Given the description of an element on the screen output the (x, y) to click on. 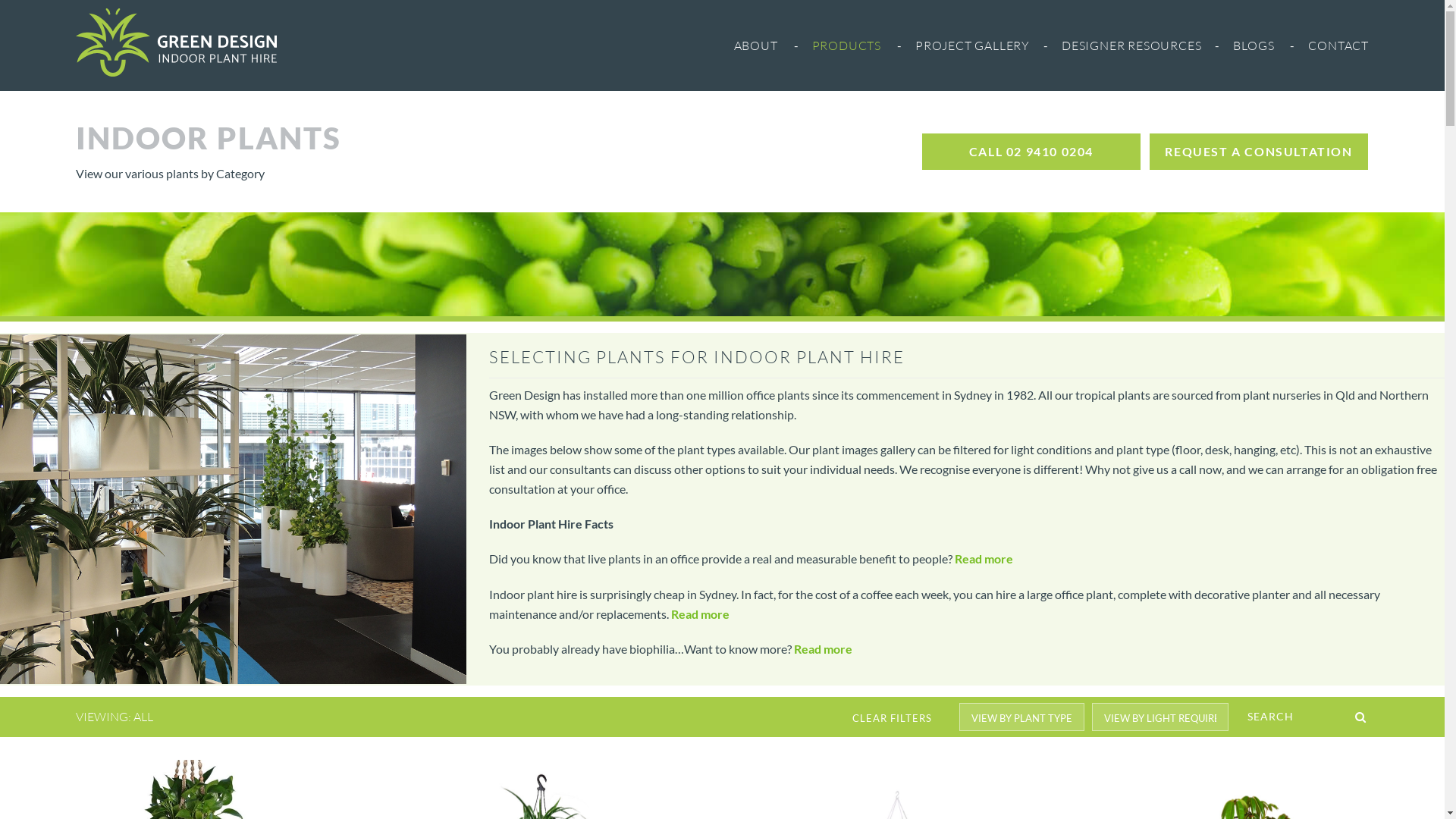
DESIGNER RESOURCES Element type: text (1131, 44)
Search Element type: text (25, 10)
Green Design Element type: hover (175, 42)
PROJECT GALLERY Element type: text (972, 44)
CONTACT Element type: text (1338, 44)
BLOGS Element type: text (1253, 44)
CALL
02 9410 0204 Element type: text (1031, 151)
Read more Element type: text (983, 558)
ABOUT Element type: text (756, 44)
Read more Element type: text (822, 648)
CLEAR FILTERS Element type: text (891, 716)
REQUEST A CONSULTATION Element type: text (1258, 151)
Wire-wall-at-KPMG Element type: hover (233, 509)
Read more Element type: text (700, 613)
PRODUCTS Element type: text (846, 44)
Filter Element type: text (20, 10)
